Given the description of an element on the screen output the (x, y) to click on. 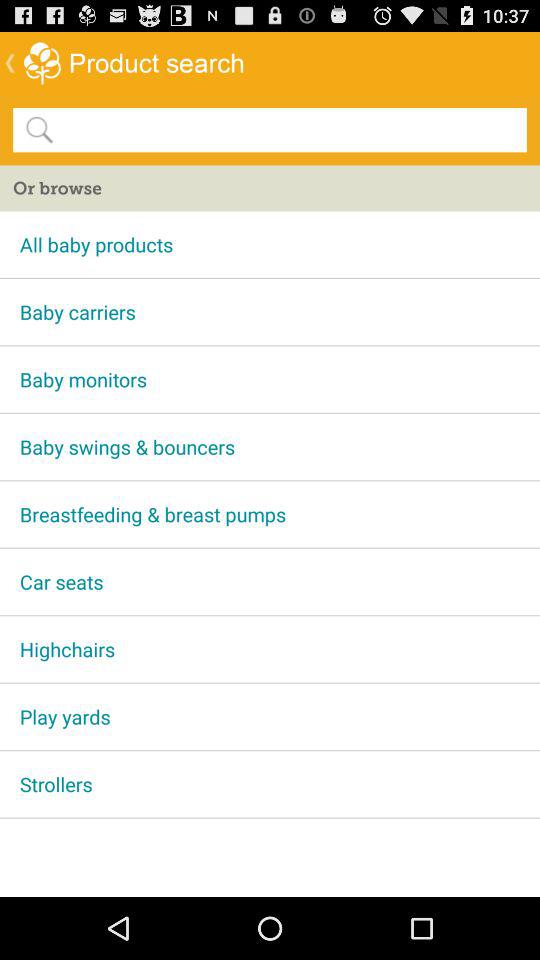
launch the app above the play yards (270, 649)
